Given the description of an element on the screen output the (x, y) to click on. 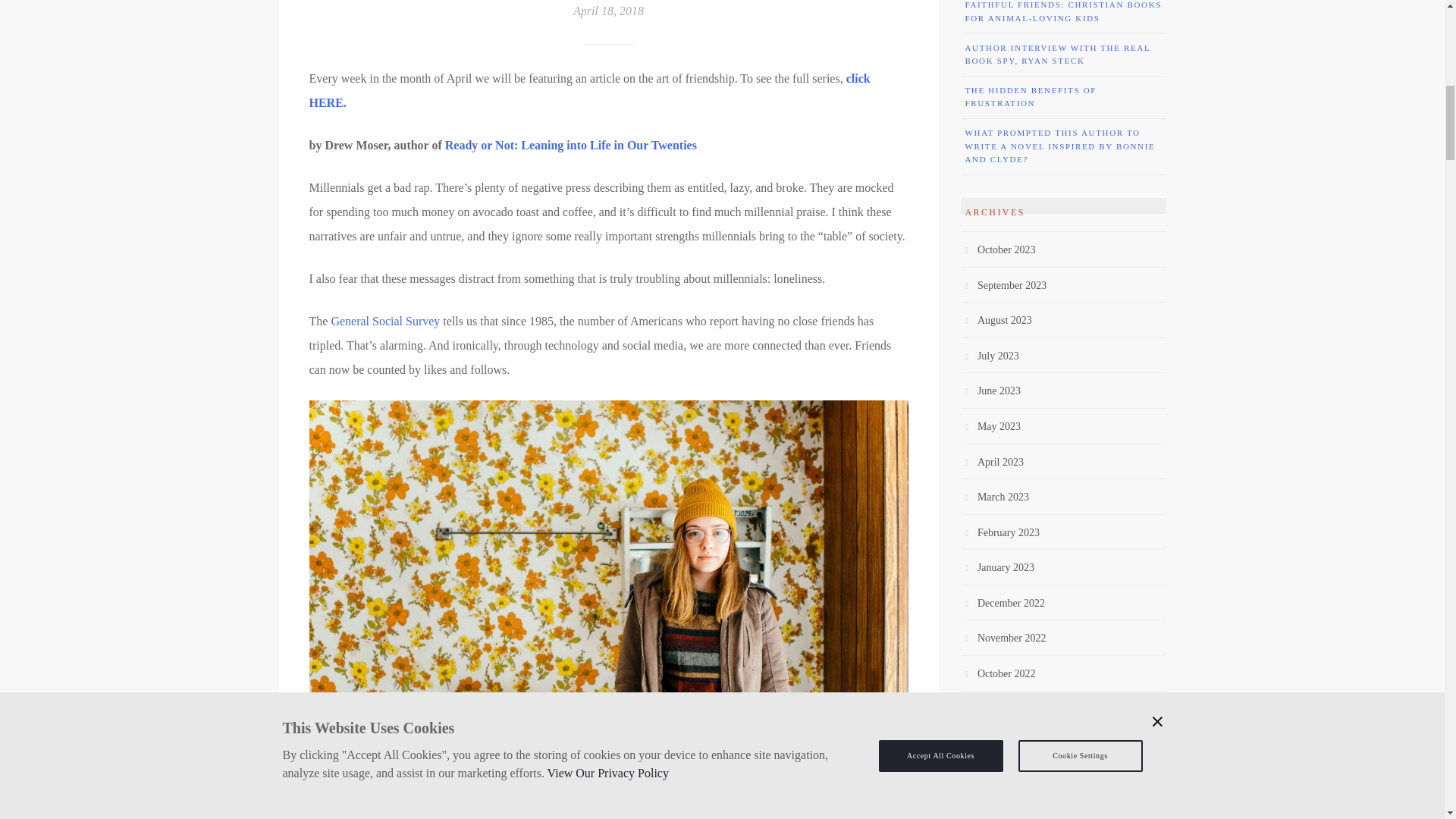
click HERE. (589, 90)
General Social Survey (384, 320)
Ready or Not: Leaning into Life in Our Twenties (571, 144)
